Given the description of an element on the screen output the (x, y) to click on. 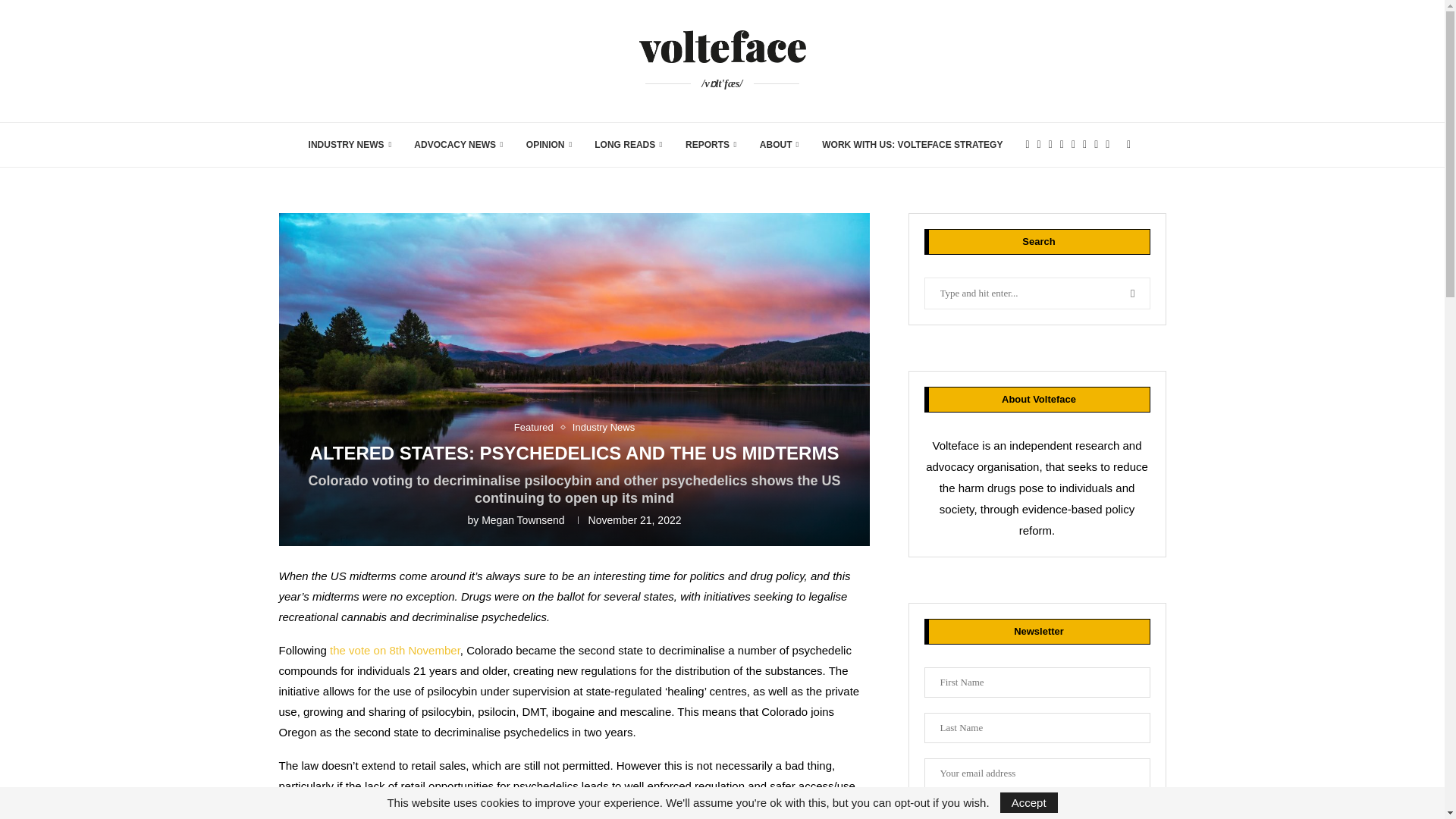
ABOUT (779, 144)
Megan Townsend (522, 520)
REPORTS (710, 144)
Subscribe (1036, 811)
Industry News (603, 427)
LONG READS (628, 144)
WORK WITH US: VOLTEFACE STRATEGY (912, 144)
INDUSTRY NEWS (349, 144)
ADVOCACY NEWS (458, 144)
OPINION (548, 144)
